Given the description of an element on the screen output the (x, y) to click on. 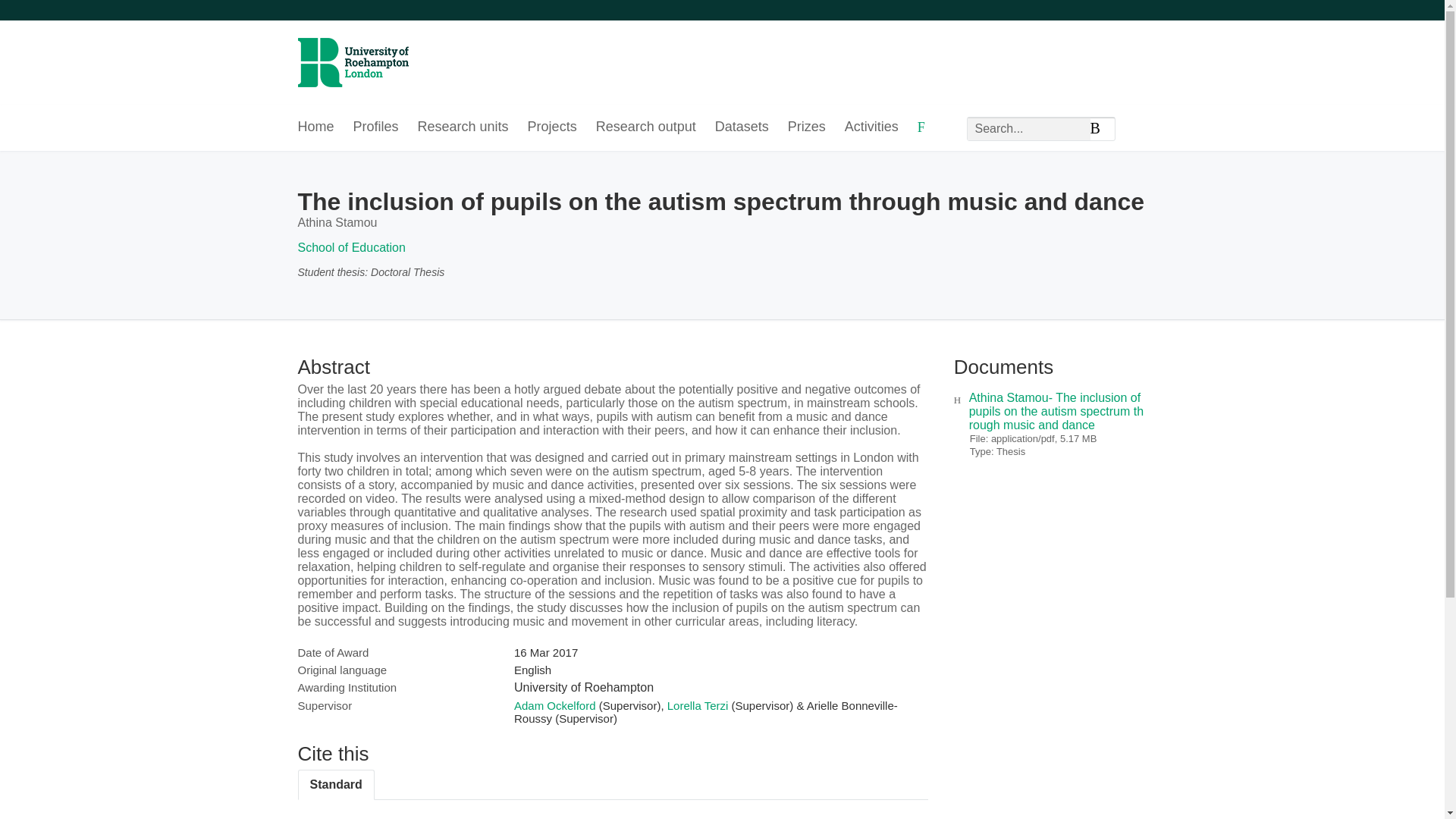
Activities (871, 127)
Projects (551, 127)
Adam Ockelford (554, 705)
Lorella Terzi (697, 705)
School of Education (350, 246)
Research output (645, 127)
Datasets (741, 127)
Research units (462, 127)
Profiles (375, 127)
University of Roehampton Research Explorer Home (352, 52)
